Given the description of an element on the screen output the (x, y) to click on. 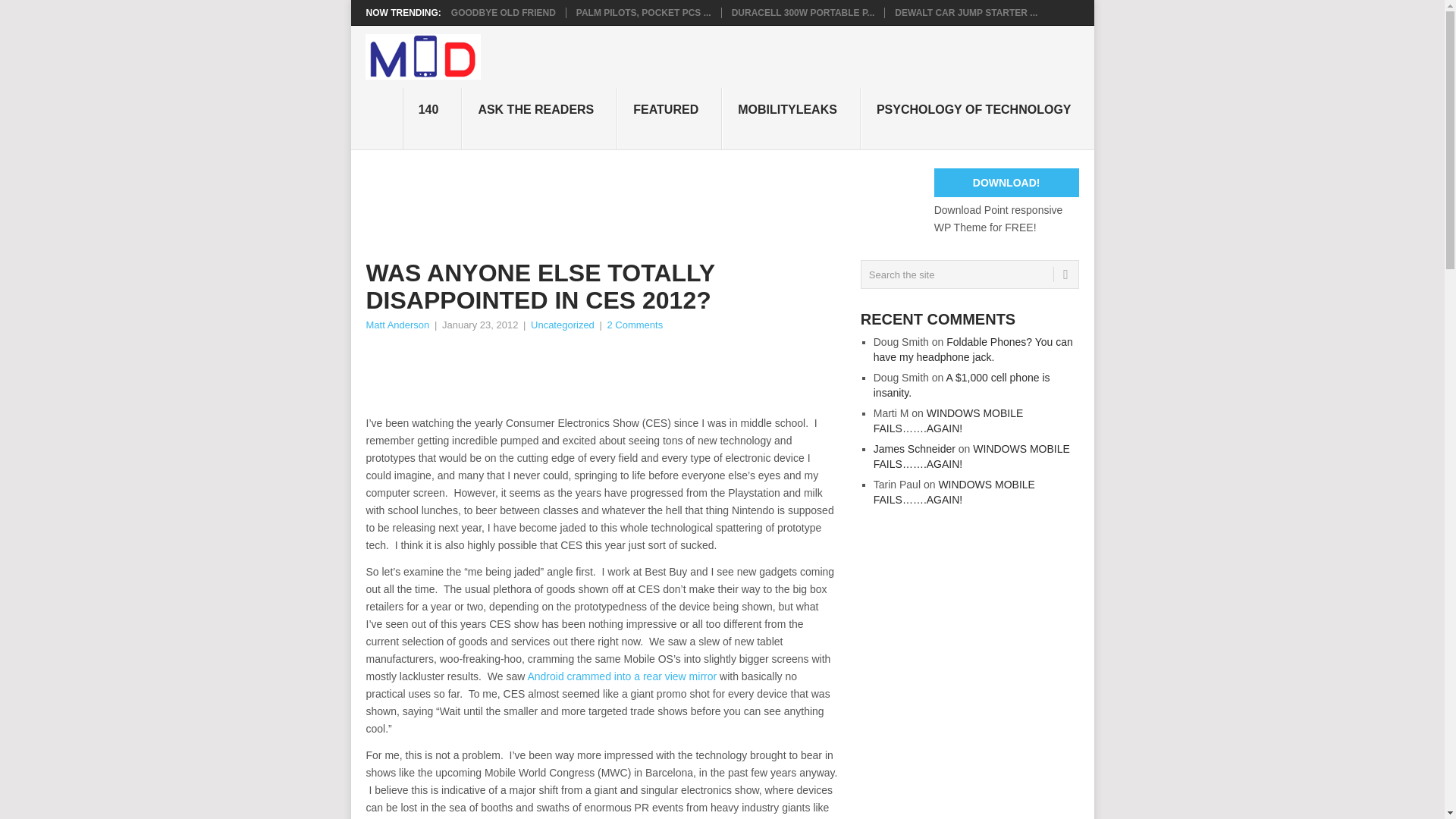
GOODBYE OLD FRIEND (503, 12)
2 Comments (634, 324)
Palm Pilots, Pocket PCs and Boogie Boards (643, 12)
Search the site (969, 274)
FEATURED (669, 118)
DEWALT CAR JUMP STARTER ... (965, 12)
Goodbye Old Friend (503, 12)
MOBILITYLEAKS (791, 118)
Advertisement (641, 375)
Matt Anderson (397, 324)
DURACELL 300W PORTABLE P... (803, 12)
Uncategorized (562, 324)
DeWalt Car Jump Starter Review (965, 12)
DOWNLOAD! (1006, 182)
Android crammed into a rear view mirror (621, 676)
